Given the description of an element on the screen output the (x, y) to click on. 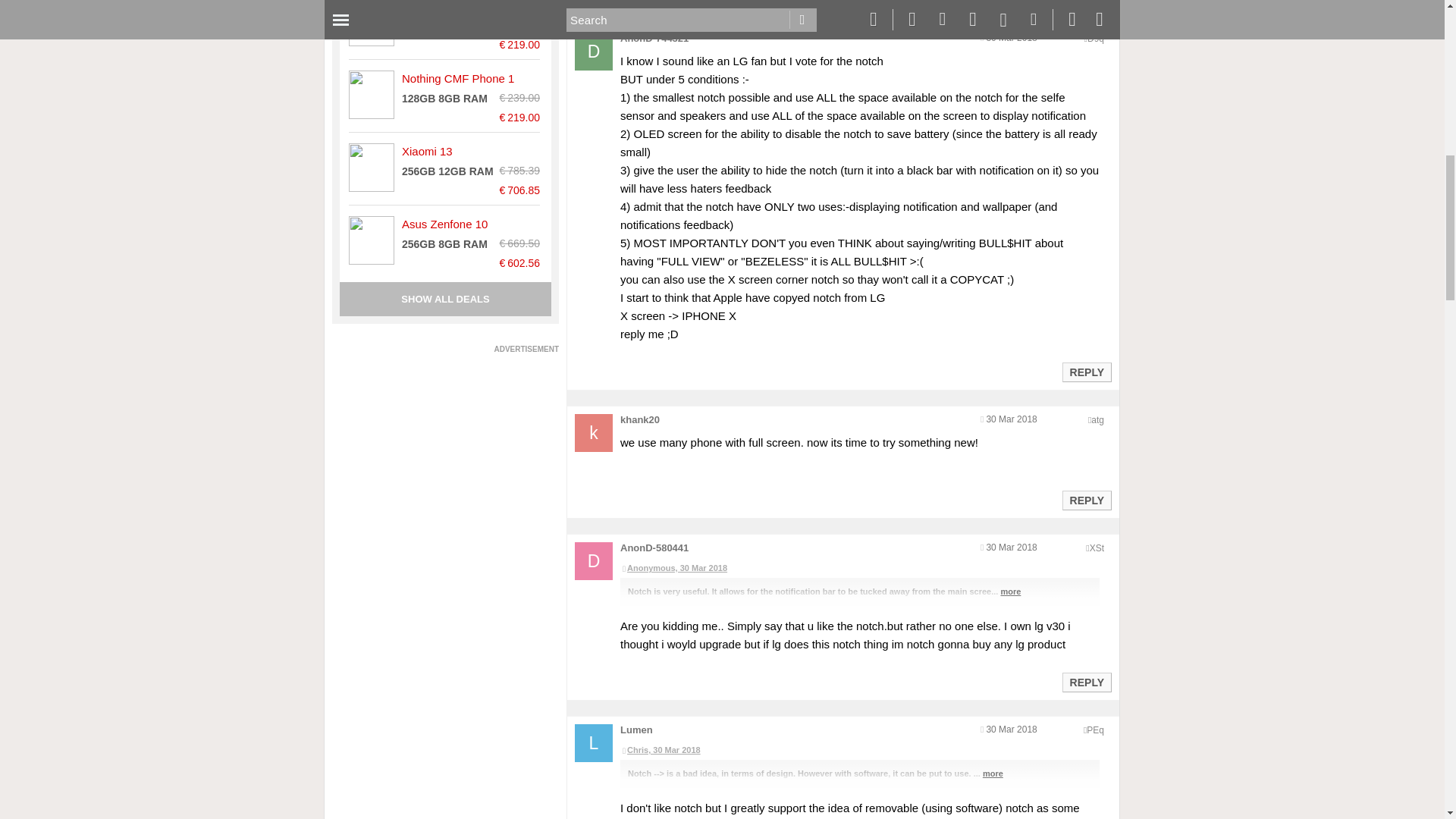
Encoded anonymized location (1095, 38)
more (1010, 591)
Encoded anonymized location (1096, 419)
Reply to this post (1086, 372)
REPLY (1086, 500)
Encoded anonymized location (1094, 729)
Reply to this post (1086, 500)
Reply to this post (1086, 682)
Encoded anonymized location (1096, 547)
REPLY (1086, 372)
